Given the description of an element on the screen output the (x, y) to click on. 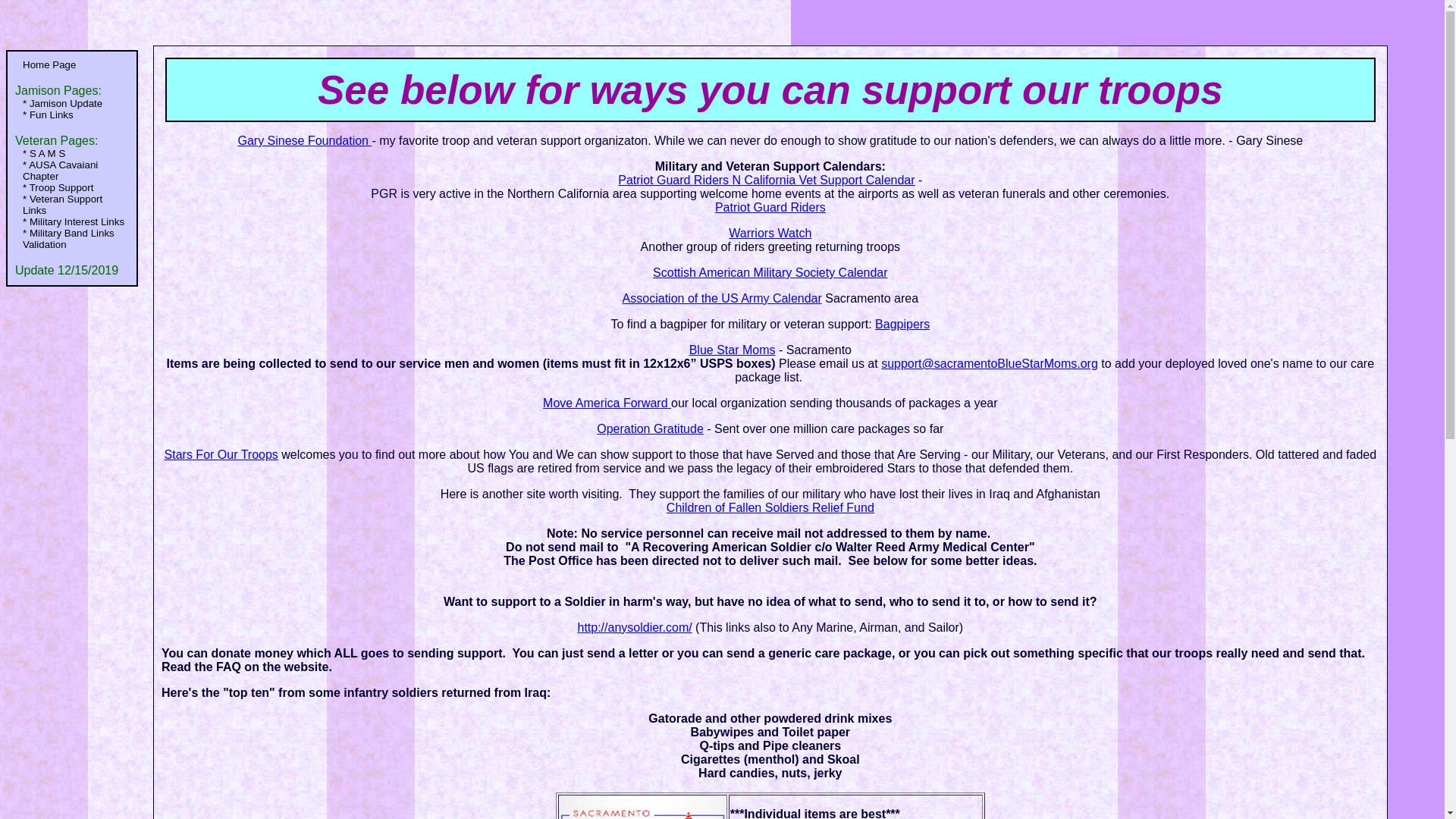
* Troop Support Element type: text (71, 187)
Move America Forward Element type: text (606, 402)
* AUSA Cavaiani Chapter Element type: text (71, 170)
Blue Star Moms Element type: text (732, 349)
* Jamison Update Element type: text (71, 103)
* Fun Links Element type: text (71, 114)
Patriot Guard Riders N California Vet Support Calendar Element type: text (766, 179)
Stars For Our Troops Element type: text (221, 454)
Association of the US Army Calendar Element type: text (722, 297)
Operation Gratitude Element type: text (649, 428)
* S A M S Element type: text (71, 153)
* Military Interest Links Element type: text (71, 221)
http://anysoldier.com/ Element type: text (634, 627)
* Military Band Links Element type: text (71, 232)
* Veteran Support Links Element type: text (71, 204)
Home Page Element type: text (71, 64)
Gary Sinese Foundation Element type: text (304, 140)
Validation Element type: text (71, 244)
Children of Fallen Soldiers Relief Fund Element type: text (770, 507)
Warriors Watch Element type: text (769, 232)
Patriot Guard Riders Element type: text (770, 206)
Scottish American Military Society Calendar Element type: text (769, 272)
support@sacramentoBlueStarMoms.org Element type: text (989, 363)
Bagpipers Element type: text (902, 323)
